Given the description of an element on the screen output the (x, y) to click on. 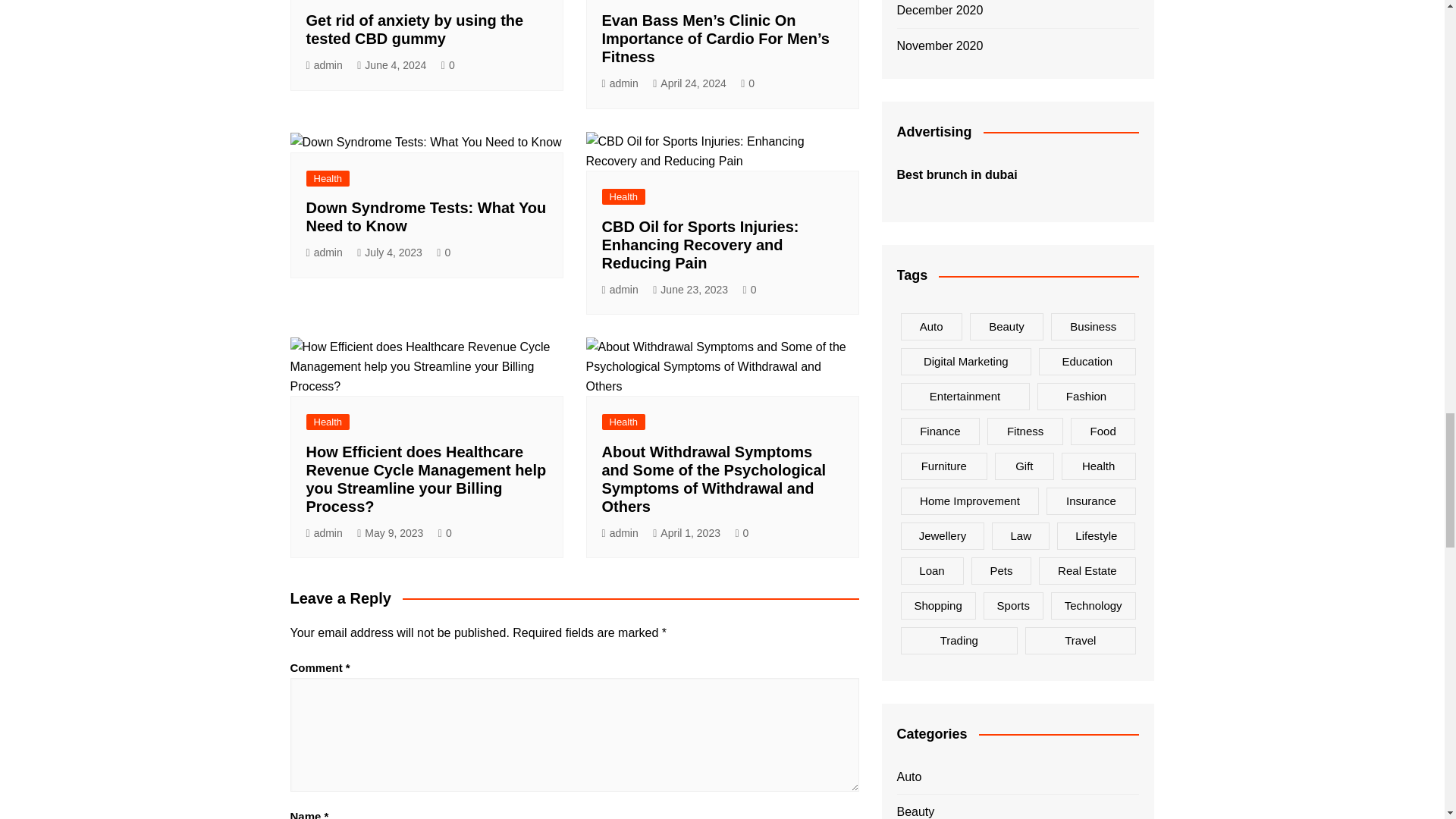
June 4, 2024 (391, 65)
admin (323, 65)
Get rid of anxiety by using the tested CBD gummy (414, 29)
